Given the description of an element on the screen output the (x, y) to click on. 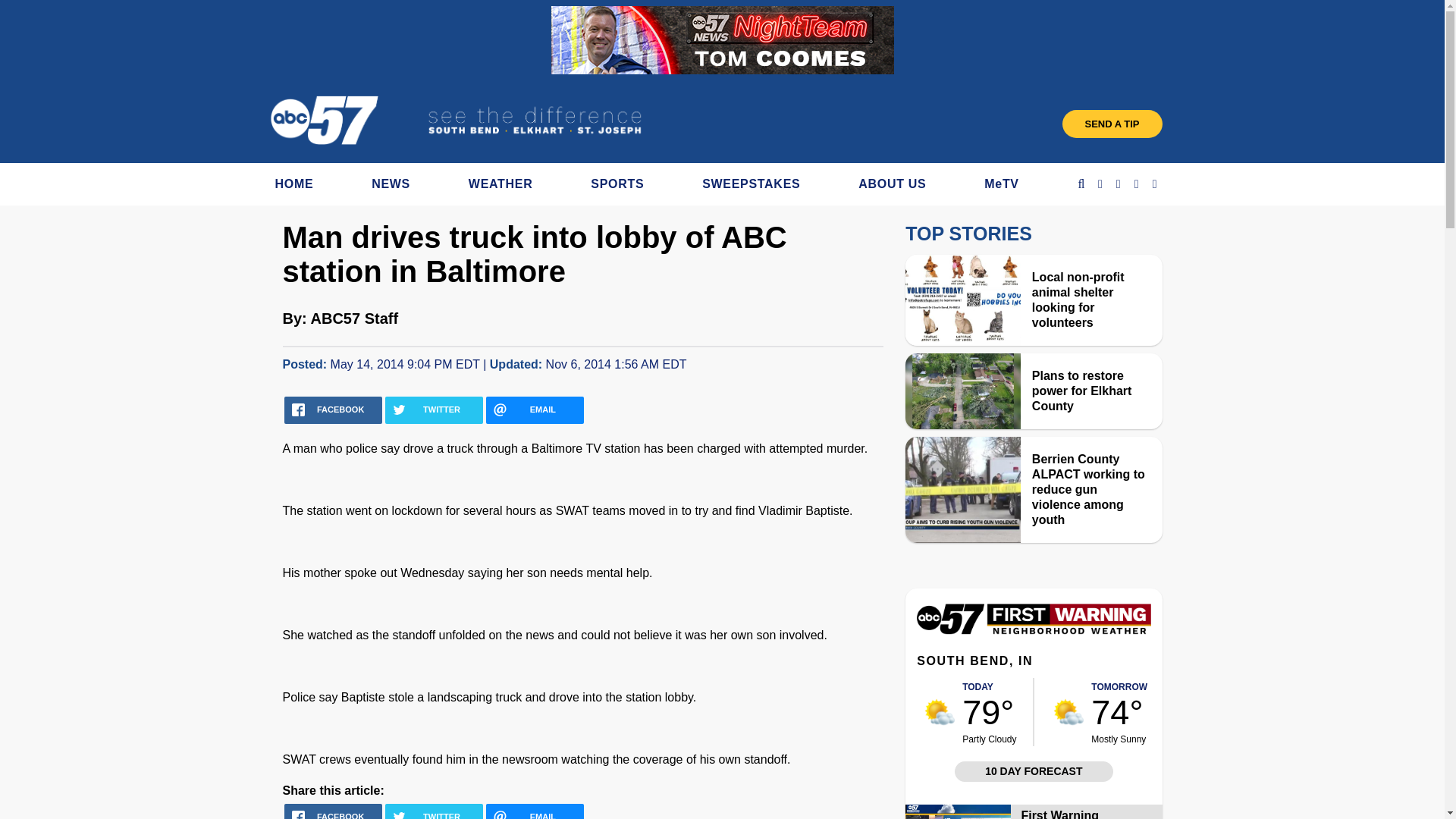
weather (939, 711)
weather (1067, 711)
Weather (1033, 630)
